Given the description of an element on the screen output the (x, y) to click on. 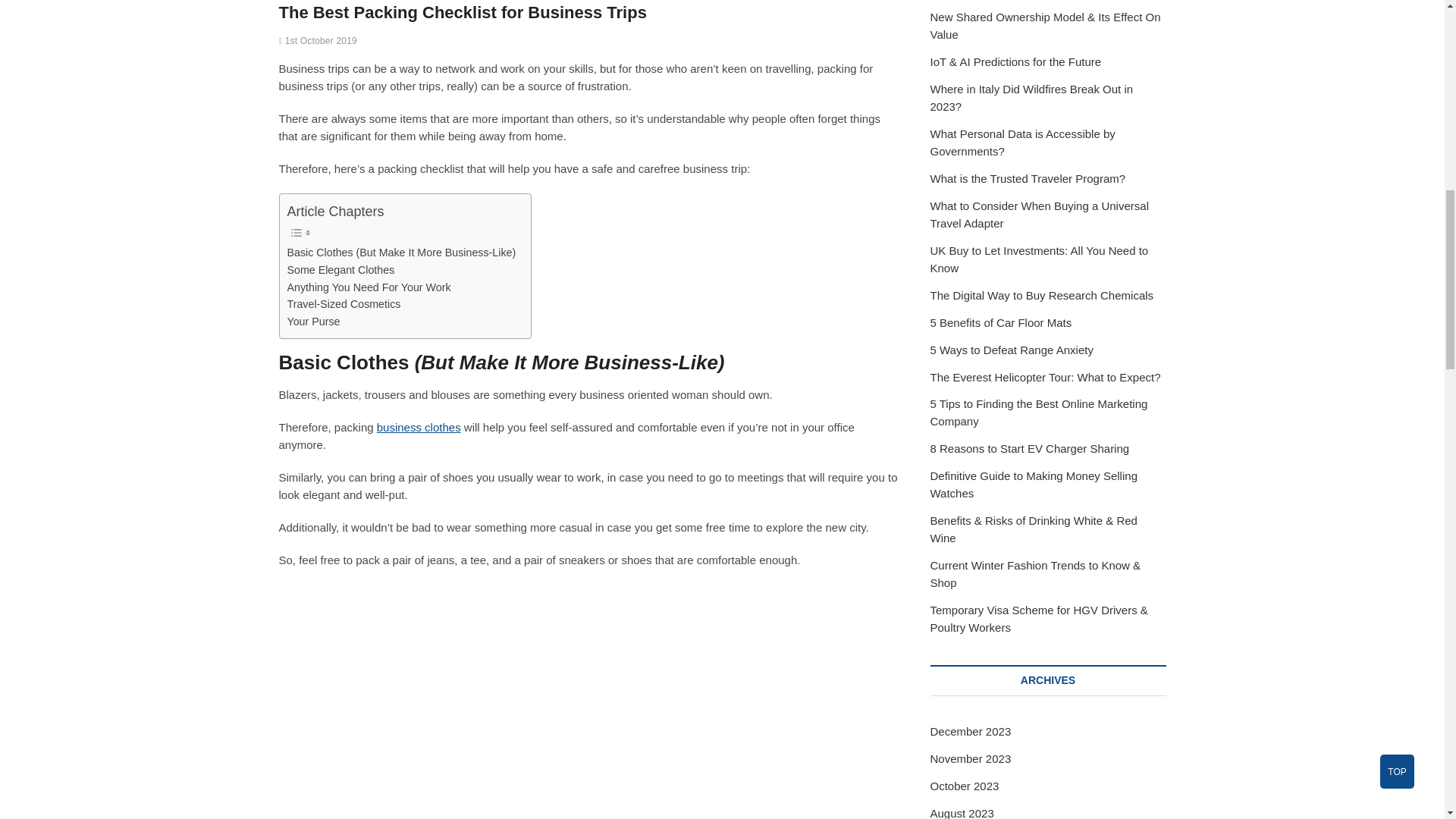
What is the Trusted Traveler Program? (1027, 178)
Some Elegant Clothes (340, 270)
Anything You Need For Your Work (367, 287)
Where in Italy Did Wildfires Break Out in 2023? (1031, 97)
business clothes (419, 427)
Some Elegant Clothes (340, 270)
1st October 2019 (317, 40)
Travel-Sized Cosmetics (343, 303)
Travel-Sized Cosmetics (343, 303)
What Personal Data is Accessible by Governments? (1022, 142)
